Given the description of an element on the screen output the (x, y) to click on. 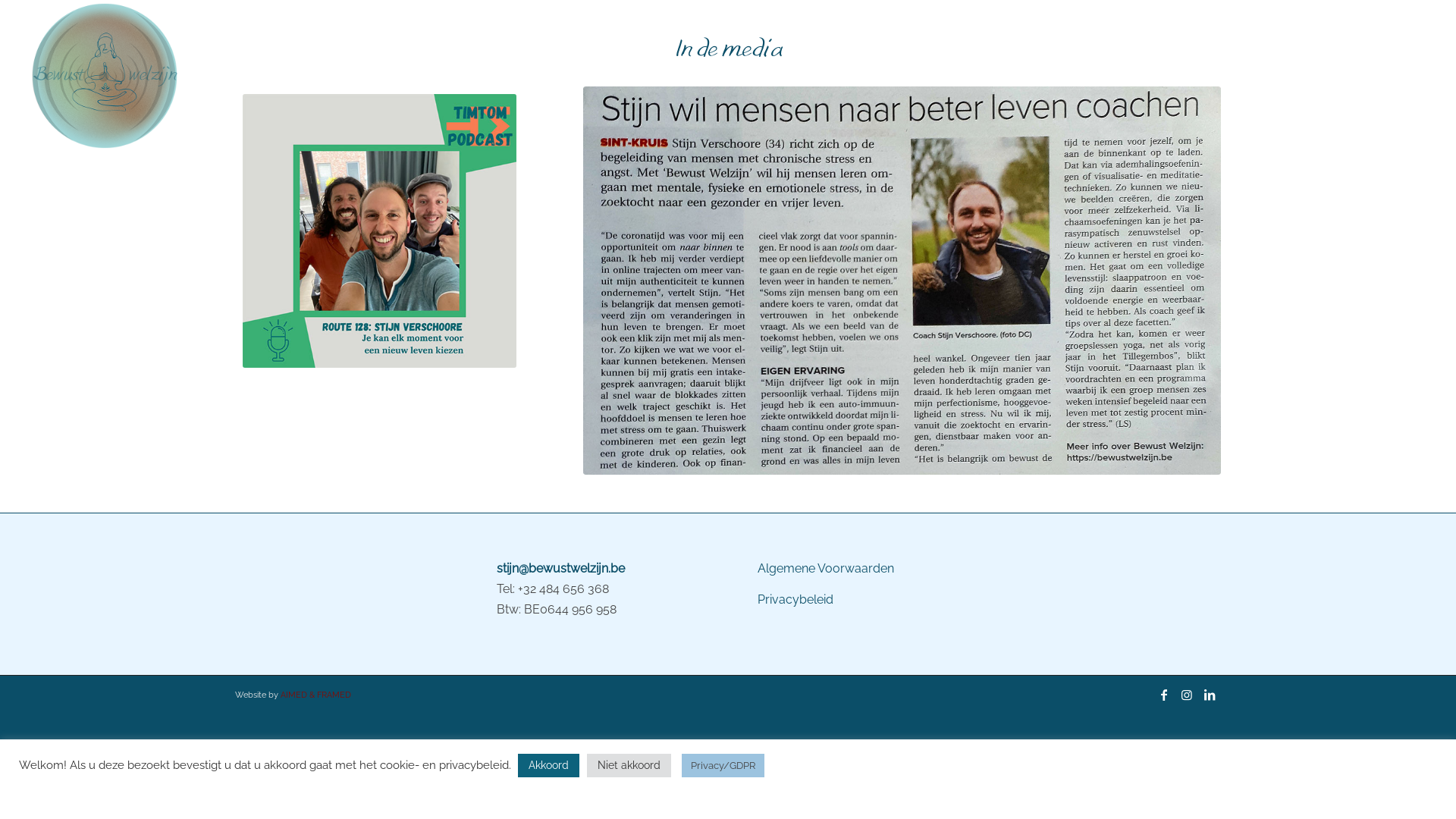
Akkoord Element type: text (548, 765)
Privacy/GDPR Element type: text (722, 765)
Instagram Element type: hover (1186, 694)
AIMED & FRAMED Element type: text (315, 694)
Algemene Voorwaarden Element type: text (825, 568)
Privacybeleid Element type: text (795, 599)
LinkedIn Element type: hover (1209, 694)
Niet akkoord Element type: text (628, 765)
Facebook Element type: hover (1163, 694)
